Given the description of an element on the screen output the (x, y) to click on. 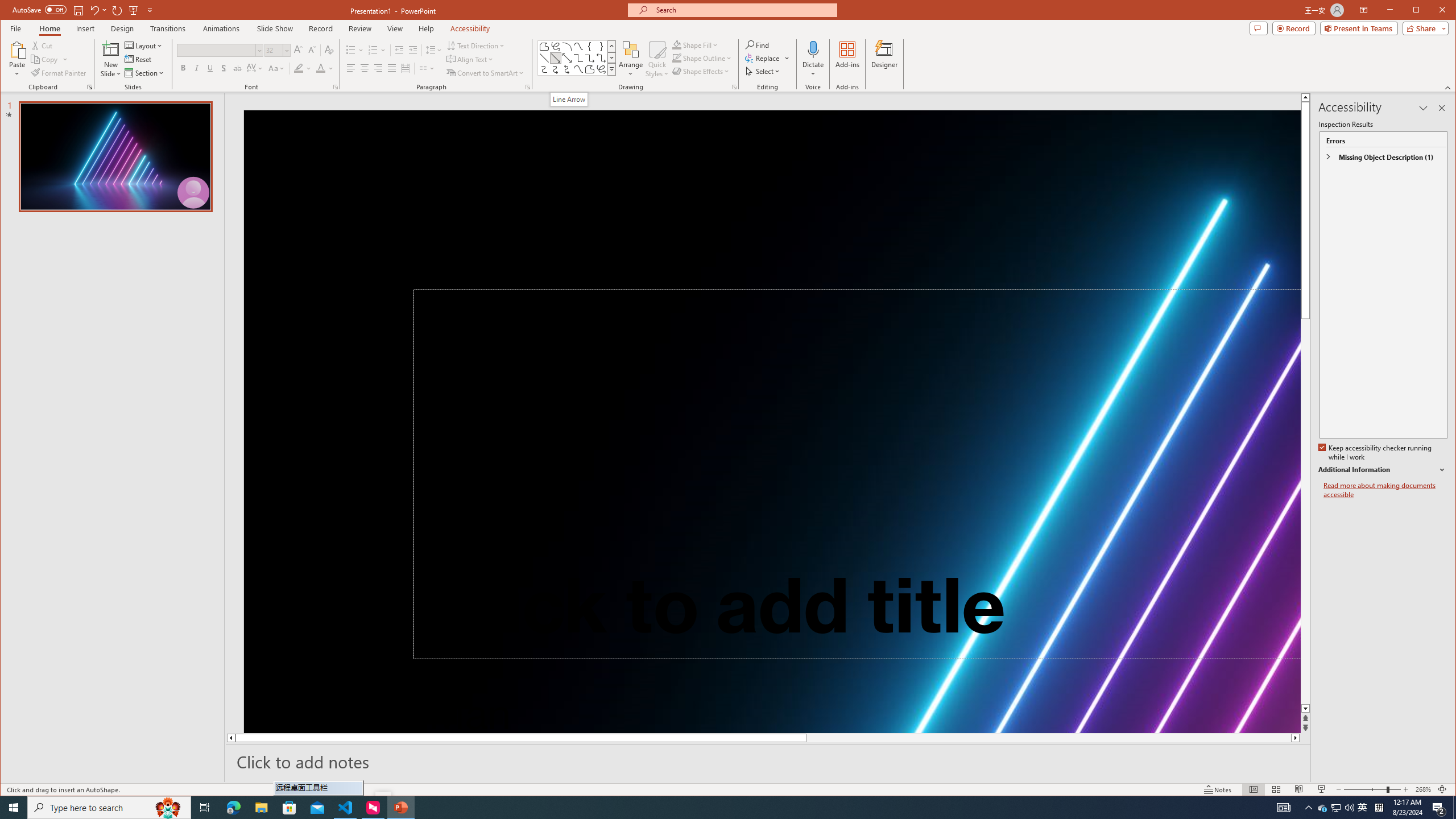
Zoom 268% (1422, 789)
